Given the description of an element on the screen output the (x, y) to click on. 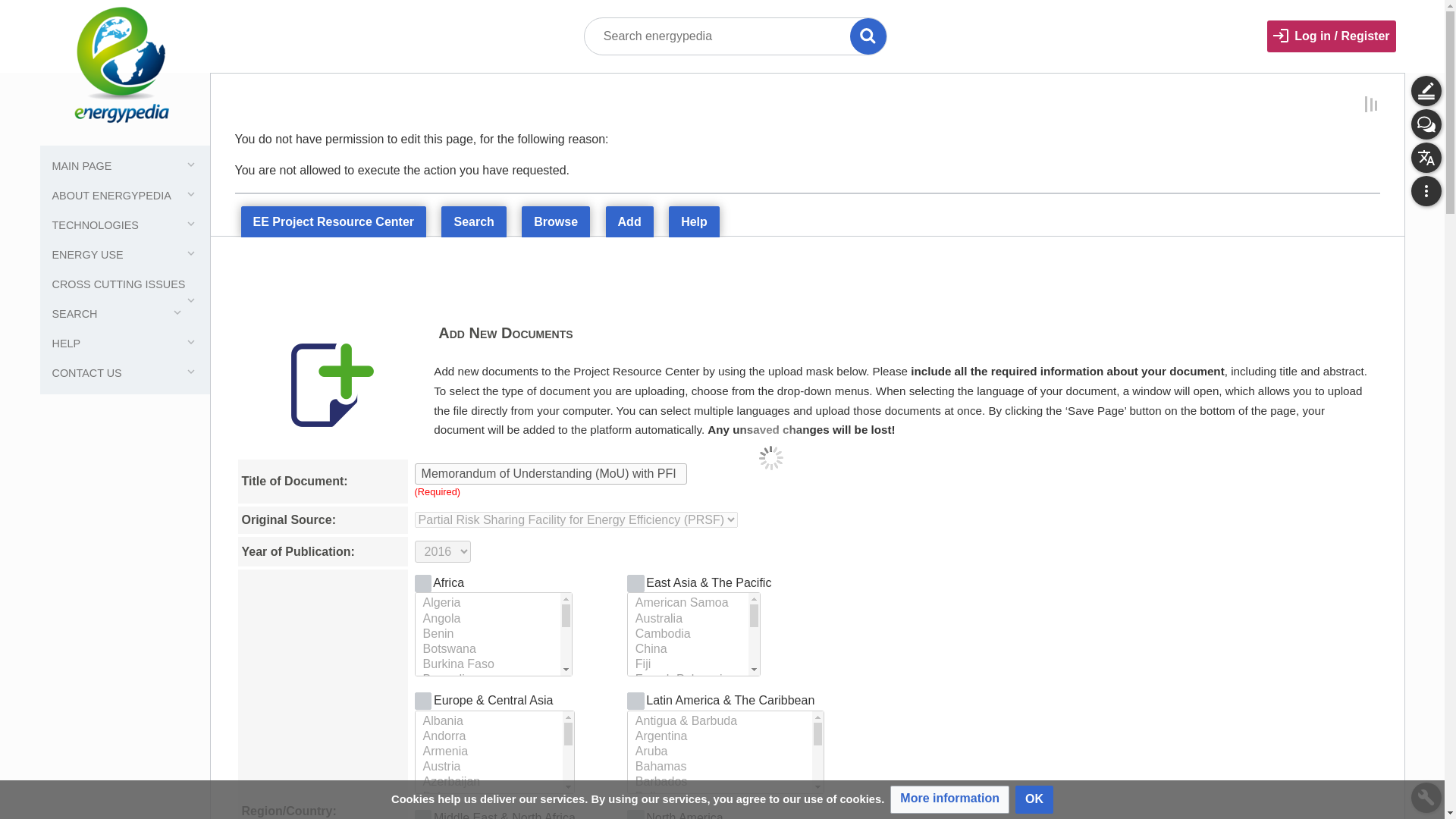
Title (868, 36)
OK (1033, 799)
EE Project Resource Center (333, 223)
Go to a page with this exact name if it exists (868, 36)
Add (629, 222)
Search (473, 223)
Title (868, 36)
Energy Efficiency Project Resource Center (333, 223)
Browse (555, 222)
Full text (18, 18)
